Given the description of an element on the screen output the (x, y) to click on. 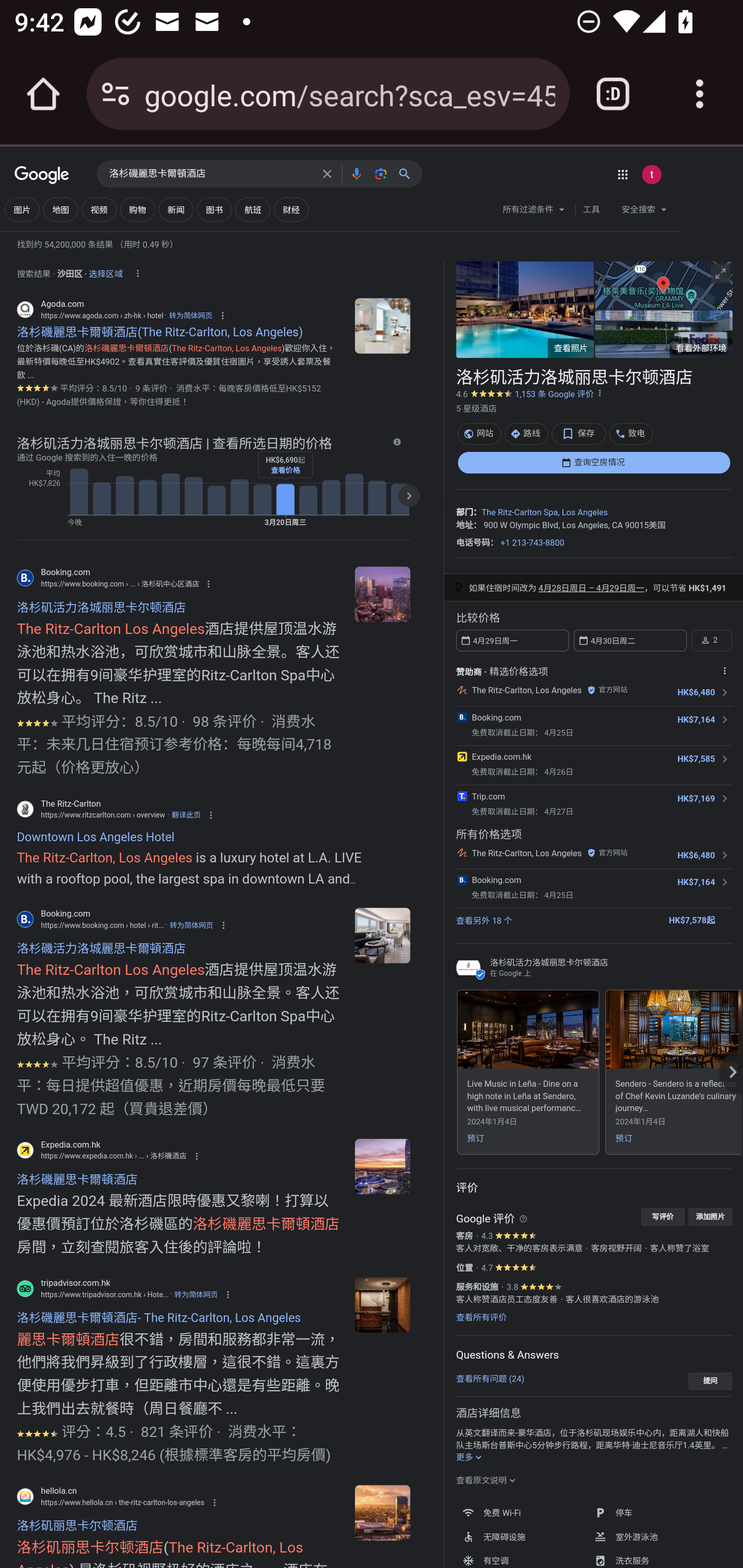
Open the home page (43, 93)
Connection is secure (115, 93)
Switch or close tabs (612, 93)
Customize and control Google Chrome (699, 93)
清除 (326, 172)
按语音搜索 (356, 172)
按图搜索 (380, 172)
搜索 (408, 172)
Google 应用 (622, 174)
Google 账号： test appium (testappium002@gmail.com) (650, 174)
Google (41, 176)
洛杉磯麗思卡爾頓酒店 (210, 173)
图片 (21, 209)
地图 (60, 209)
视频 (98, 209)
购物 (137, 209)
新闻 (175, 209)
图书 (213, 209)
航班 (253, 209)
财经 (291, 209)
所有过滤条件 (533, 211)
工具 (590, 209)
安全搜索 (643, 211)
选择区域 (105, 270)
查看照片 查看照片 (524, 309)
洛杉矶活力洛城丽思卡尔顿酒店地图 (662, 284)
位置信息使用方式 (136, 273)
los-angeles-ca-us (382, 324)
转为简体网页 (190, 314)
看看外部环境 看看外部环境 看看外部环境 看看外部环境 (662, 333)
更多选项 (599, 392)
1,153 条 Google 评价 (554, 393)
网站 (479, 433)
路线 (525, 433)
保存到您的列表中 (578, 433)
致电 (630, 433)
了解详情 (396, 441)
查询空房情况 (593, 462)
查看价格 (284, 470)
The Ritz-Carlton Spa, Los Angeles (543, 512)
地址 (464, 524)
拨打电话 +1 213-743-8800 (532, 542)
ritz-carlton-los-angeles.zh-cn (382, 594)
4月28日周日 – 4月29日周一 (590, 587)
请选择入住日期。目前的入住日期是 2024-04-29  (511, 639)
请选择退房日期。目前的退房日期是 2024-04-30  (629, 639)
请选择访客人数 (710, 639)
为什么会显示该广告？ (724, 669)
The Ritz-Carlton, Los Angeles (526, 690)
HK$6,480 (695, 691)
Booking.com (496, 716)
HK$7,164 (695, 719)
Expedia.com.hk (501, 756)
HK$7,585 (695, 759)
Trip.com (488, 795)
HK$7,169 (695, 797)
翻译此页 (185, 814)
The Ritz-Carlton, Los Angeles (526, 851)
HK$6,480 (695, 854)
Booking.com (496, 879)
HK$7,164 (695, 881)
ritz-carlton-los-angeles.zh-tw (382, 934)
查看另外 18 个 HK$7,578起 (593, 919)
转为简体网页 (191, 924)
Los-Angeles-Hotels-The-Ritz-Carlton.h3443706 (382, 1166)
写评价 (662, 1216)
添加照片 (709, 1216)
这是什么？ (523, 1218)
转为简体网页 (195, 1293)
查看所有评价 (481, 1317)
查看所有问题 (24) (489, 1378)
提问 (709, 1381)
更多有关“洛杉矶活力洛城丽思卡尔顿酒店”的信息 (469, 1457)
查看原文说明 (486, 1479)
the-ritz-carlton-los-angeles (382, 1512)
